Given the description of an element on the screen output the (x, y) to click on. 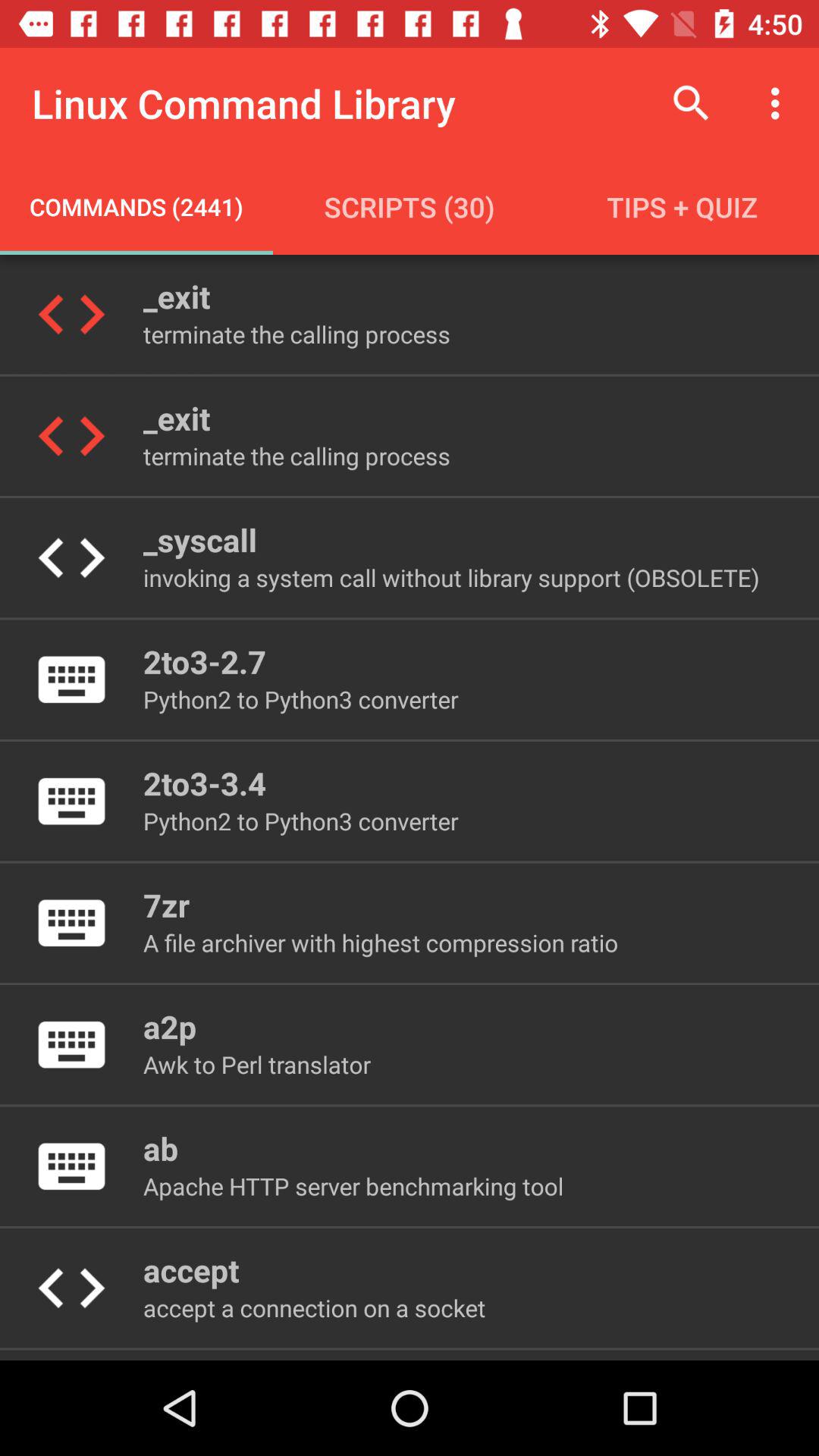
press icon above the invoking a system icon (200, 539)
